Given the description of an element on the screen output the (x, y) to click on. 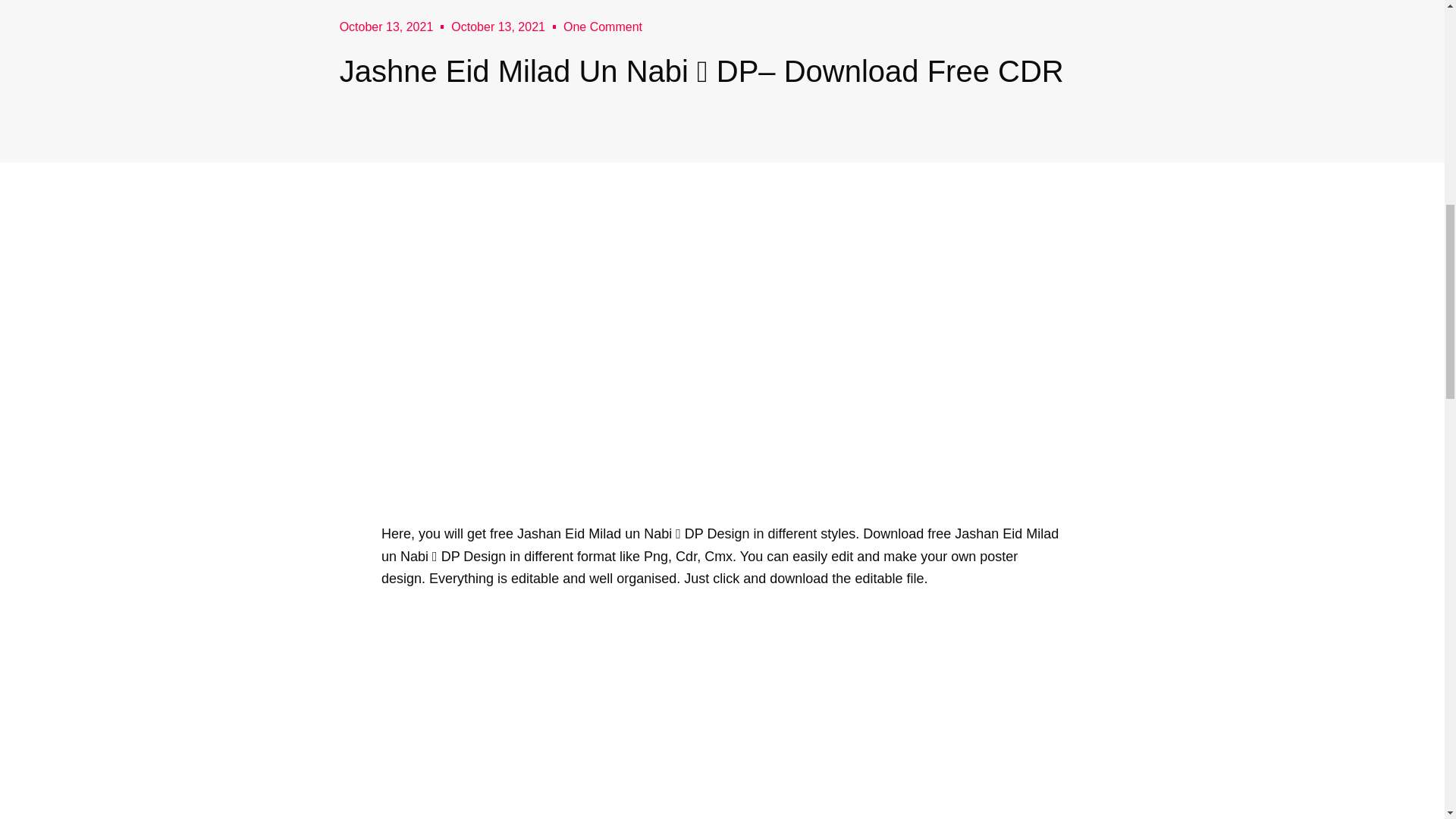
October 13, 2021 (497, 26)
One Comment (602, 26)
October 13, 2021 (386, 26)
